Given the description of an element on the screen output the (x, y) to click on. 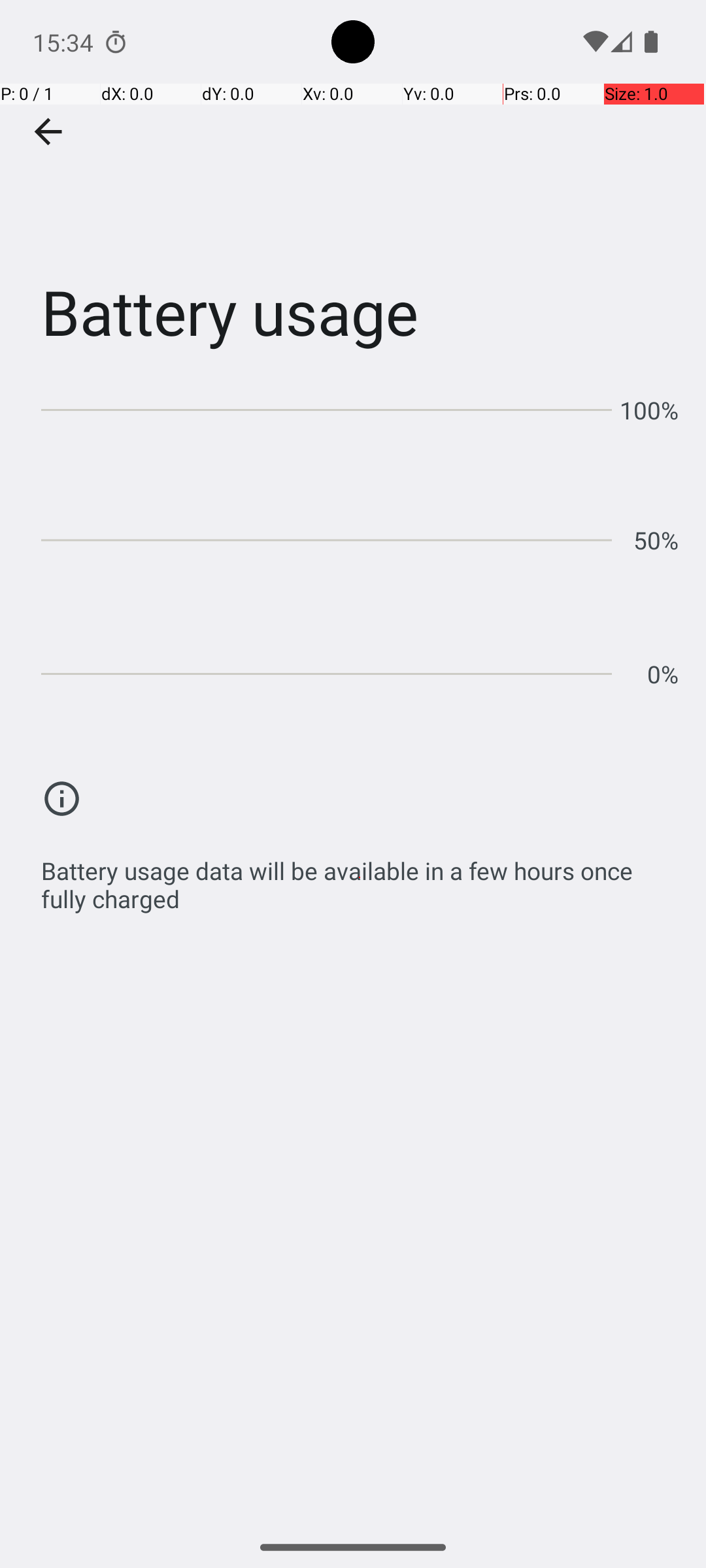
Hourly battery usage chart Element type: android.widget.ImageView (359, 536)
Battery usage data will be available in a few hours once fully charged Element type: android.widget.TextView (359, 877)
